Given the description of an element on the screen output the (x, y) to click on. 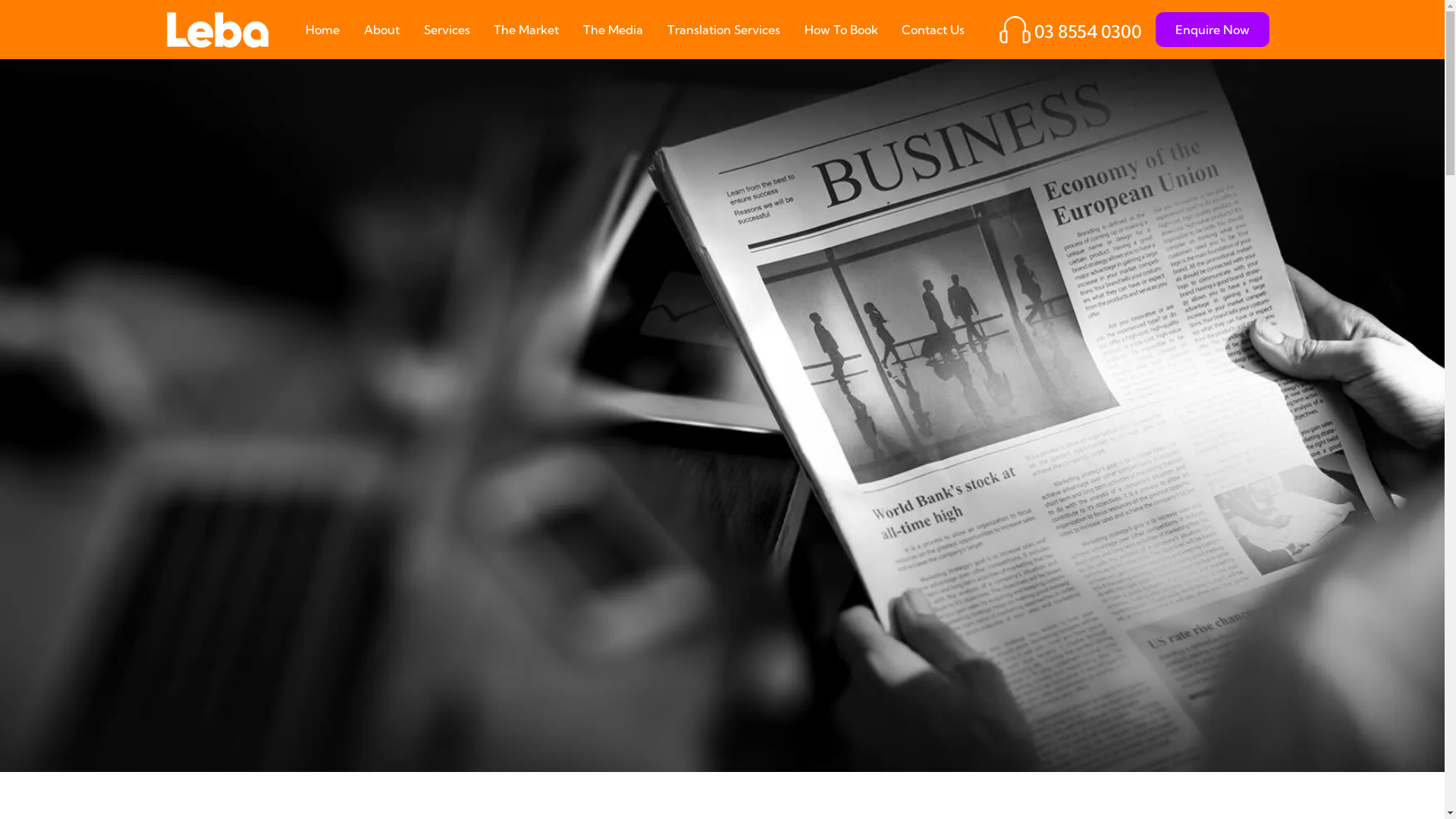
Enquire Now Element type: text (1212, 29)
The Media Element type: text (612, 29)
Home Element type: text (322, 29)
How To Book Element type: text (840, 29)
The Market Element type: text (526, 29)
Services Element type: text (446, 29)
Translation Services Element type: text (723, 29)
Contact Us Element type: text (933, 29)
About Element type: text (381, 29)
